Given the description of an element on the screen output the (x, y) to click on. 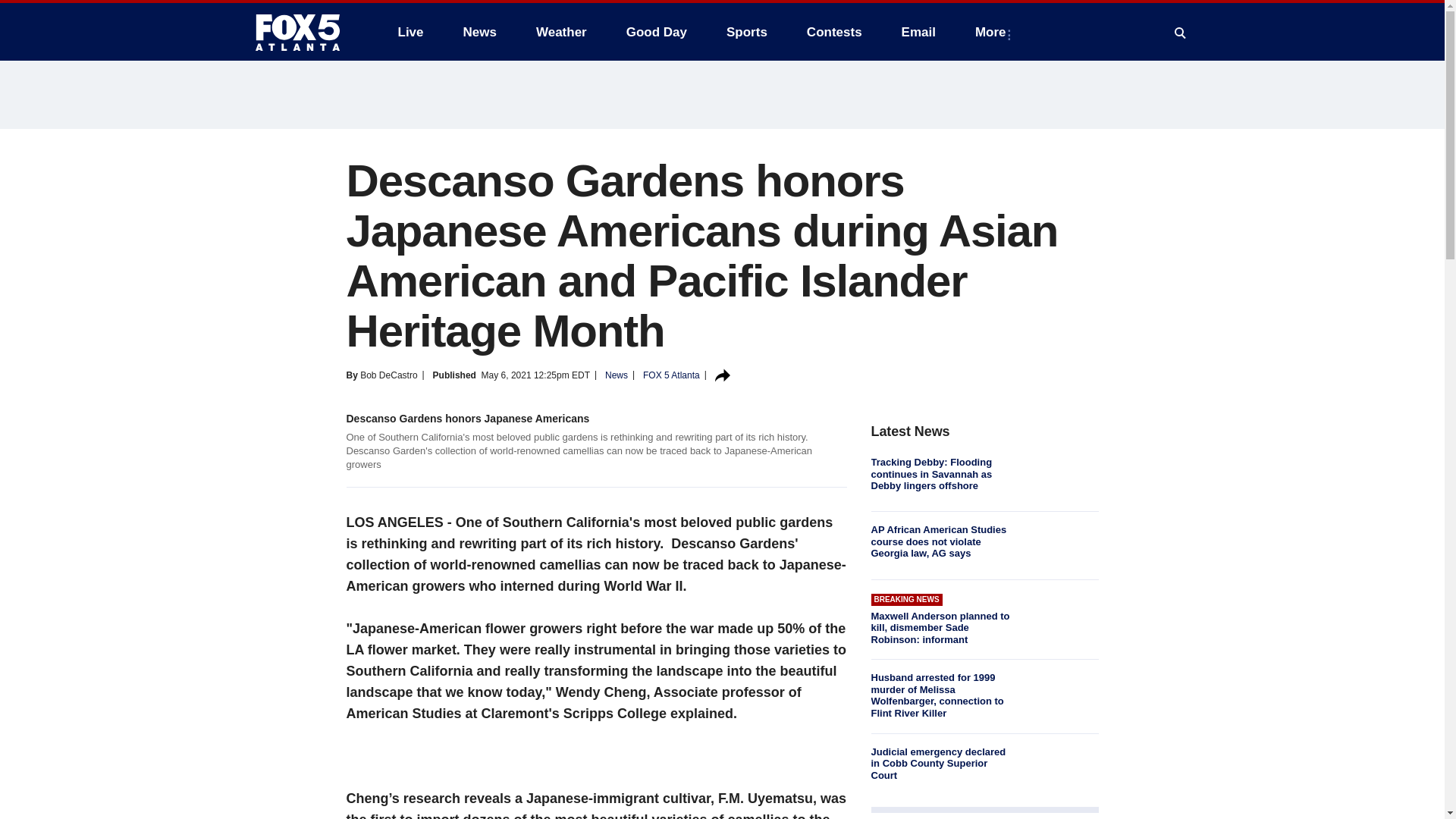
Email (918, 32)
More (993, 32)
Good Day (656, 32)
Sports (746, 32)
Weather (561, 32)
Live (410, 32)
Contests (834, 32)
News (479, 32)
